Given the description of an element on the screen output the (x, y) to click on. 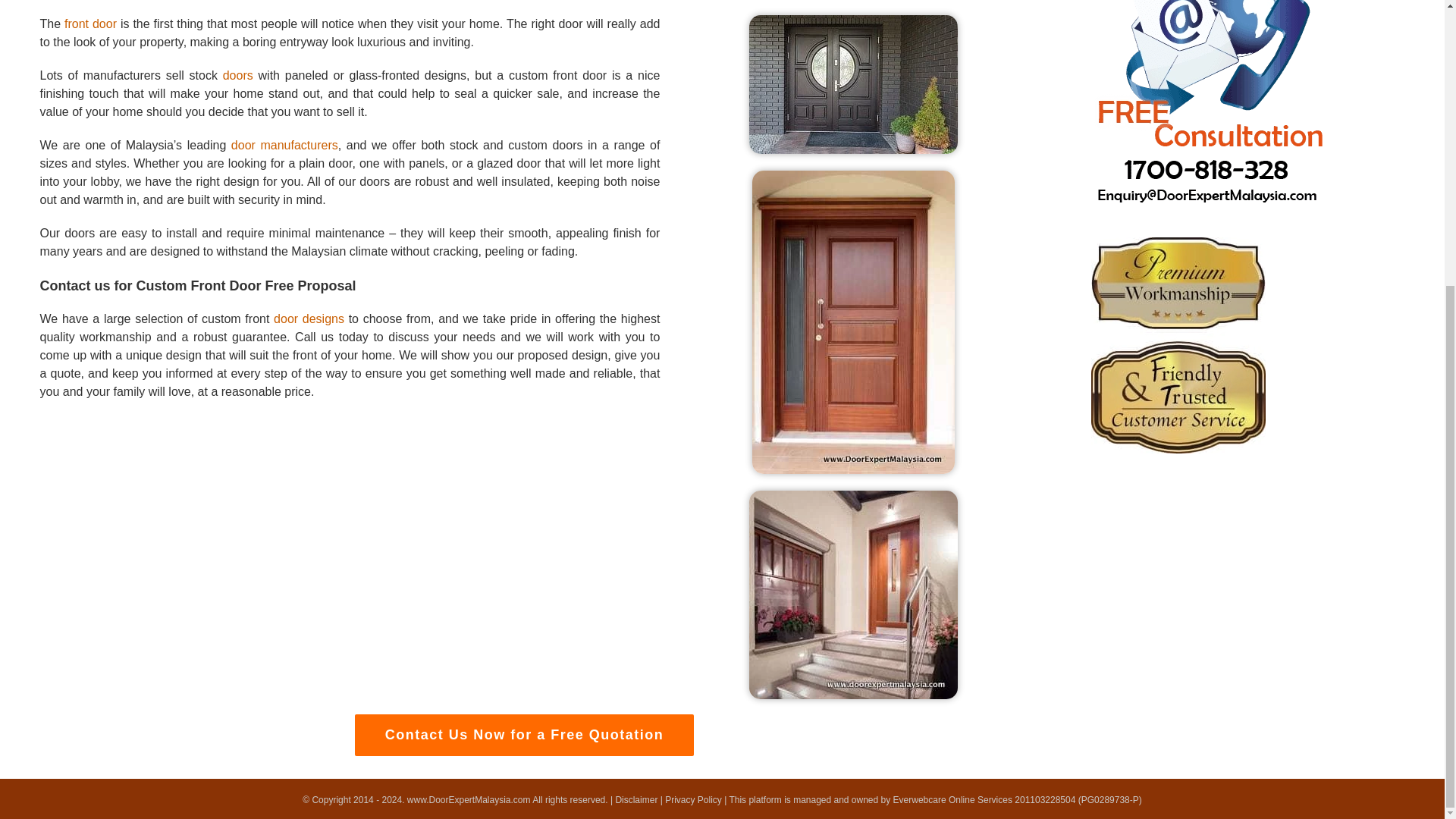
Contact Us Now for a Free Quotation (524, 727)
door manufacturers (284, 144)
Exterior Wooden Door Malaysia (853, 594)
Cost Effective Custom Front Door (524, 7)
door designs (308, 318)
Wooden Front Door With Glass Malaysia (853, 84)
